Given the description of an element on the screen output the (x, y) to click on. 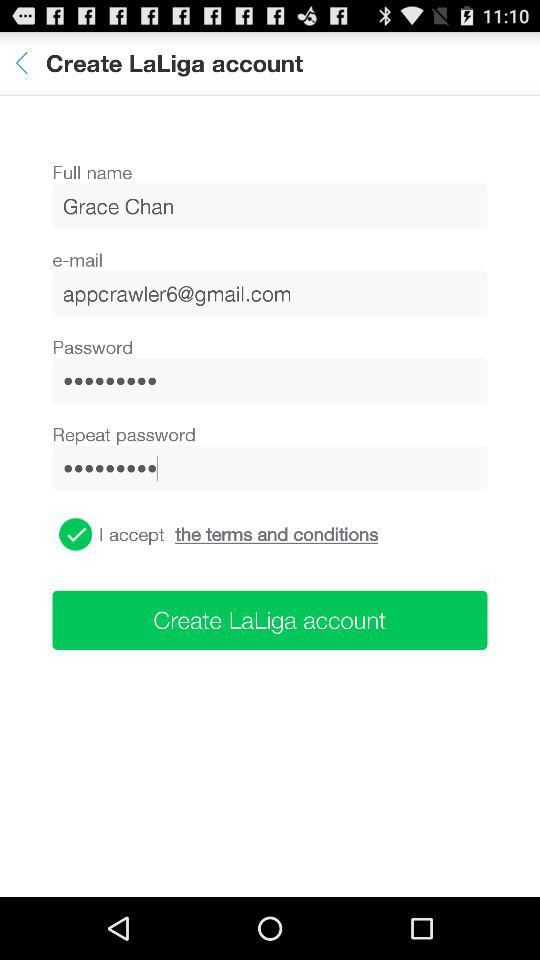
choose the icon above create laliga account (276, 533)
